Given the description of an element on the screen output the (x, y) to click on. 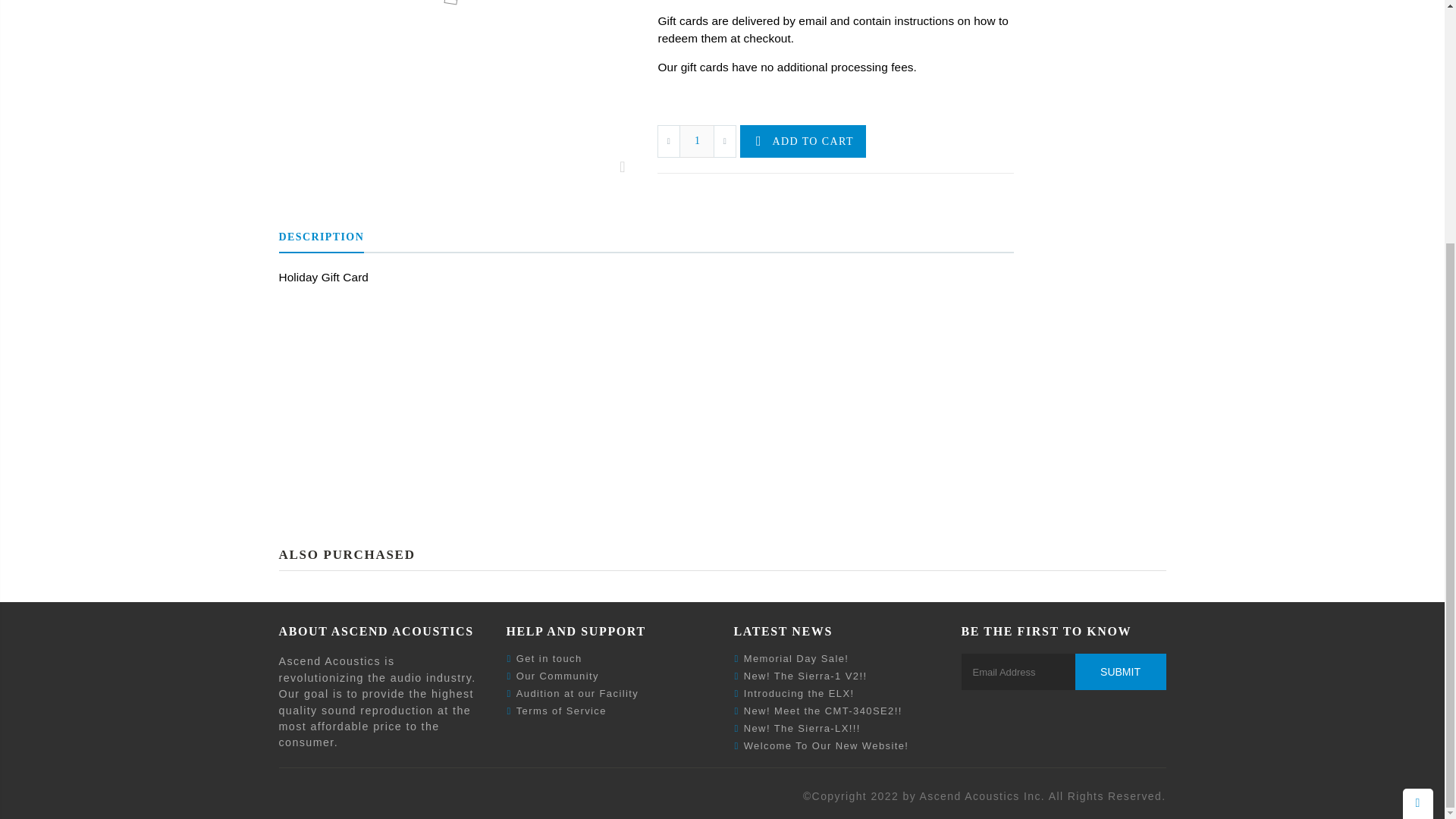
1 (696, 141)
